Given the description of an element on the screen output the (x, y) to click on. 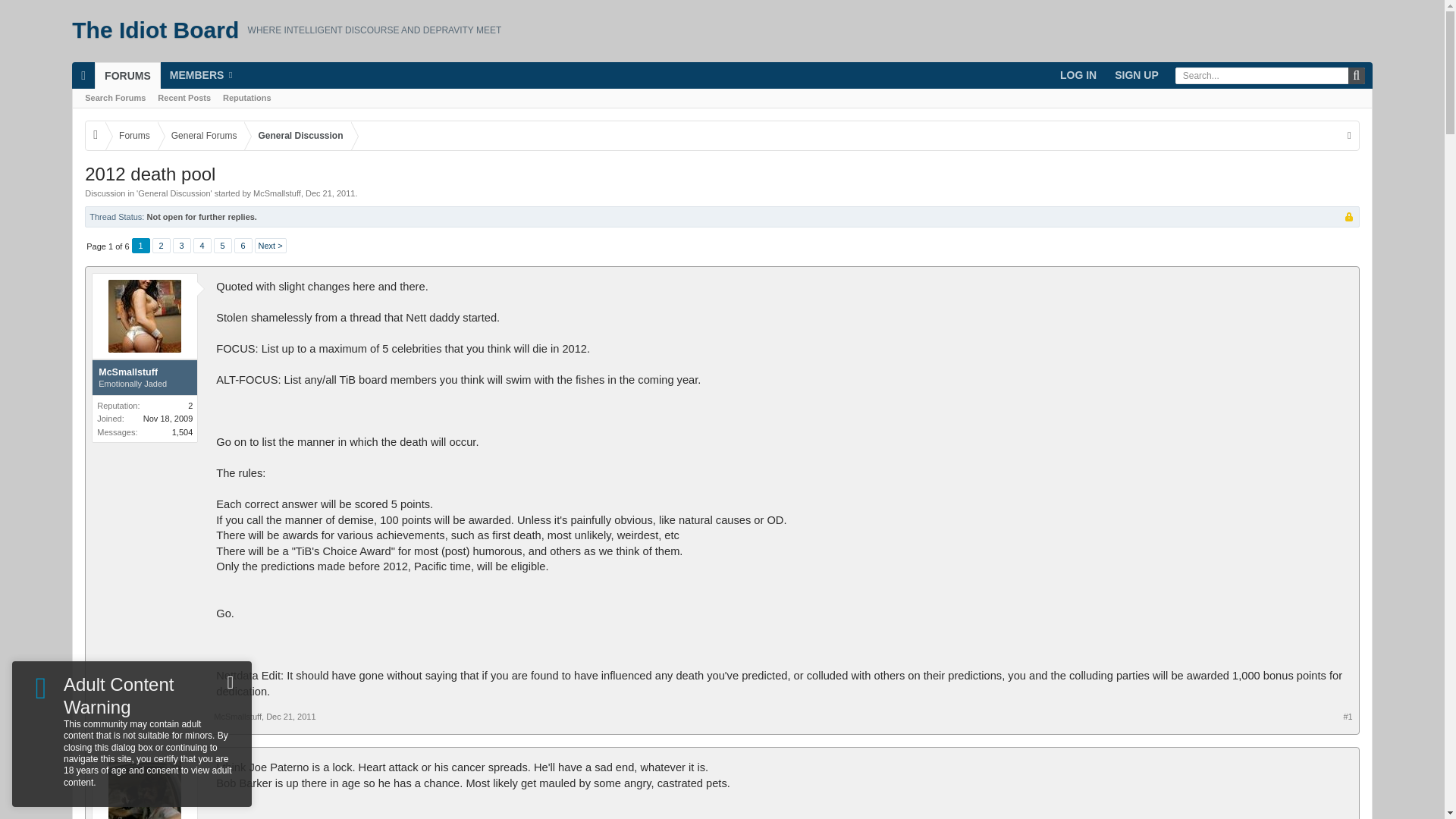
General Discussion (173, 193)
FORUMS (127, 75)
General Discussion (297, 135)
SIGN UP (1136, 75)
Dec 21, 2011 (330, 193)
LOG IN (1078, 75)
1 (140, 245)
Permalink (290, 716)
Forums (130, 135)
McSmallstuff (277, 193)
Search Forums (114, 97)
Dec 21, 2011 at 8:43 PM (330, 193)
Reputations (247, 97)
General Forums (200, 135)
